Given the description of an element on the screen output the (x, y) to click on. 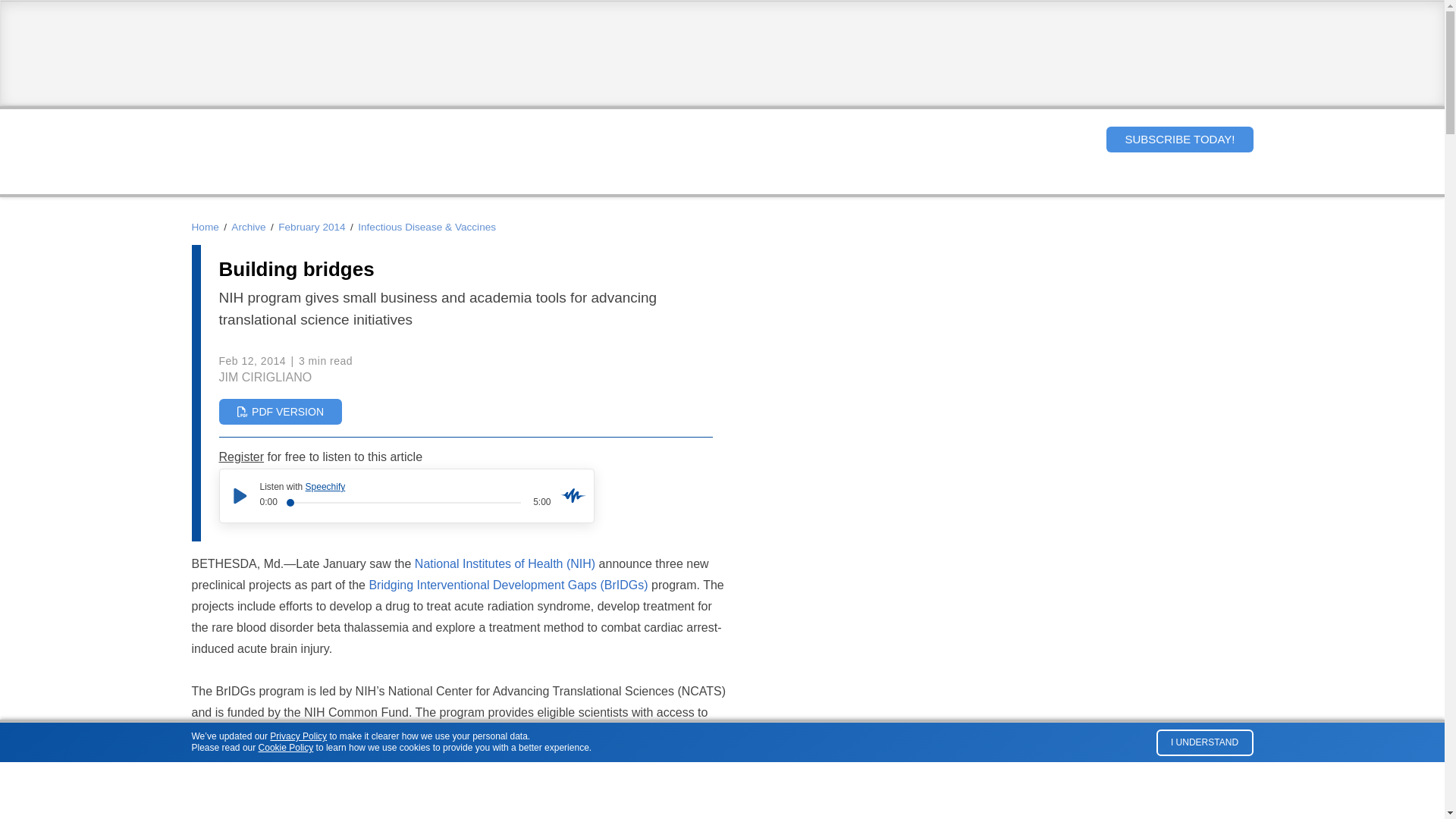
DISEASE FOCUS (574, 179)
Search (1081, 139)
SUBSCRIBE TODAY! (1179, 139)
